Given the description of an element on the screen output the (x, y) to click on. 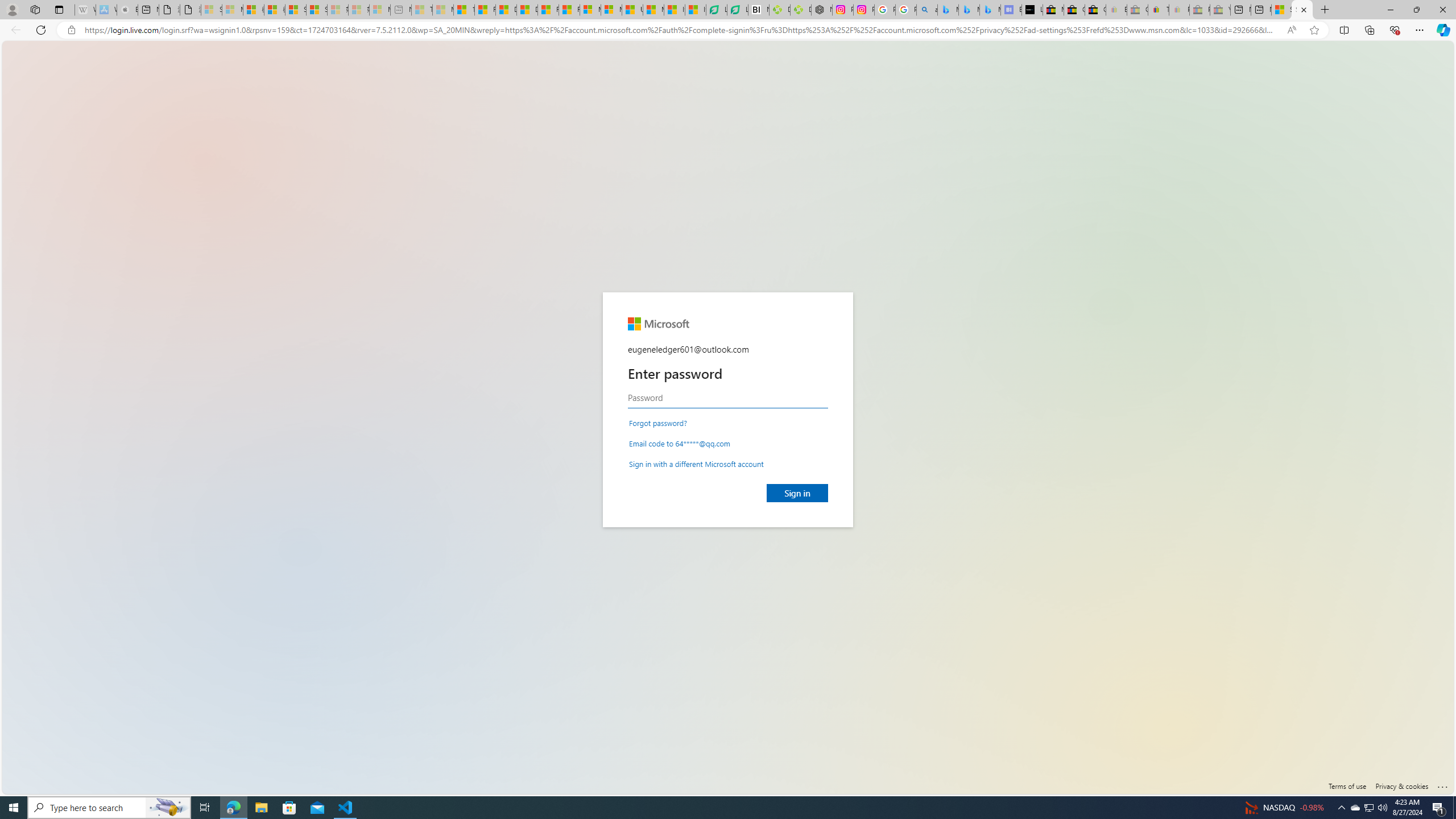
Email code to 64*****@qq.com (679, 442)
Privacy & cookies (1401, 785)
Press Room - eBay Inc. - Sleeping (1199, 9)
Drinking tea every day is proven to delay biological aging (527, 9)
Top Stories - MSN - Sleeping (421, 9)
